Given the description of an element on the screen output the (x, y) to click on. 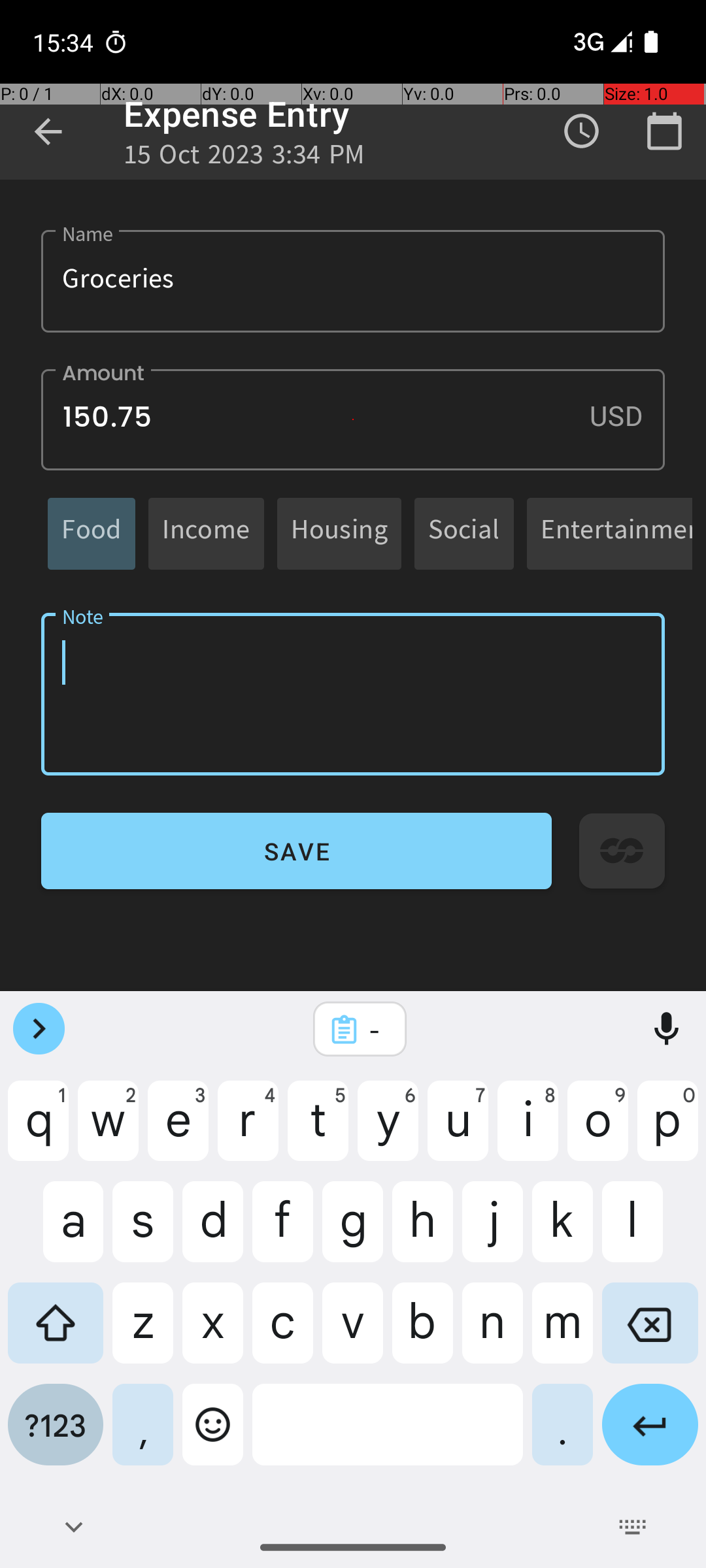
150.75 Element type: android.widget.EditText (352, 419)
